Given the description of an element on the screen output the (x, y) to click on. 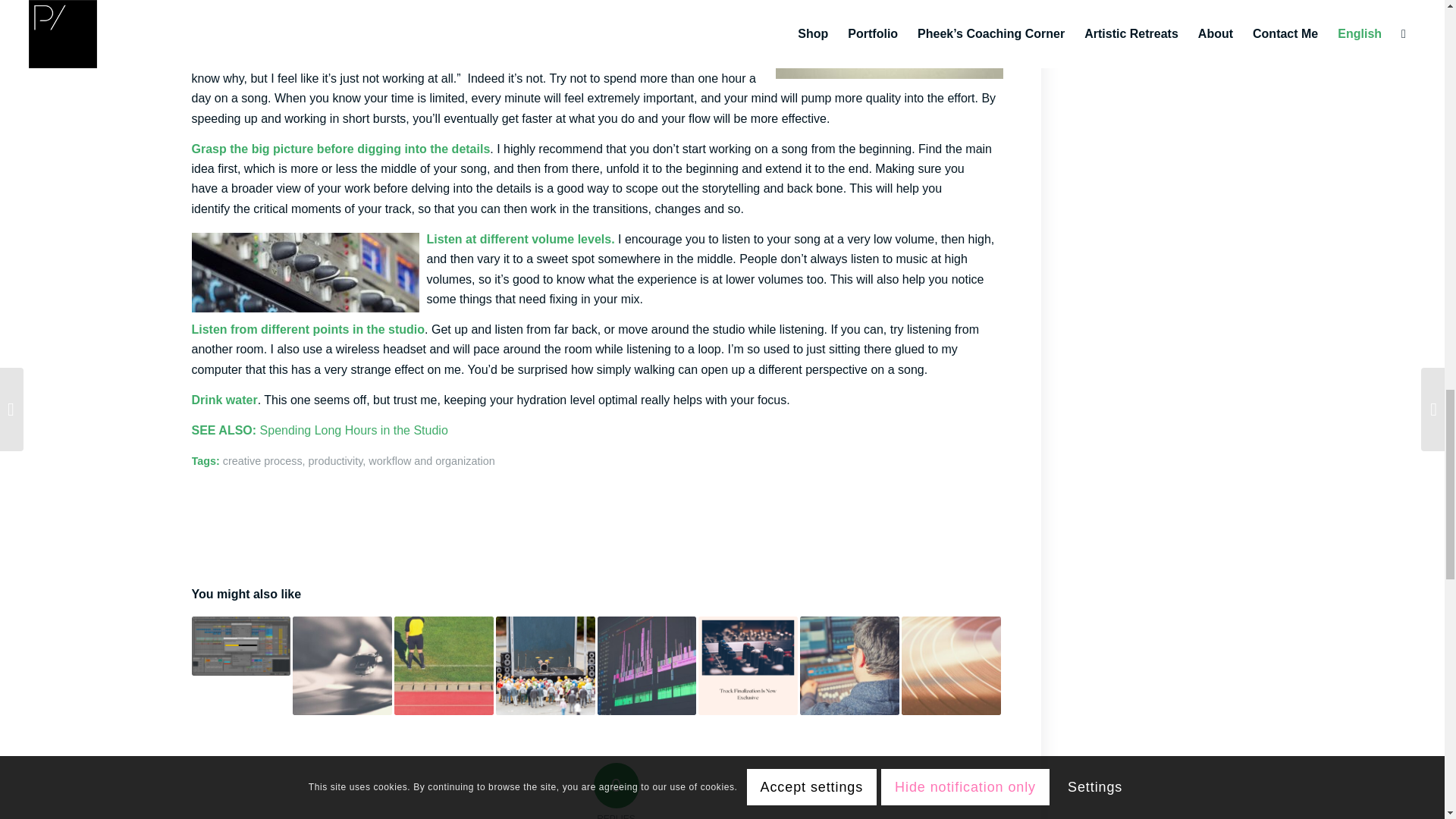
The Rule Of 10: Production in Rotation for Big Results (443, 665)
productivity (335, 460)
Spending Long Hours in the Studio (354, 430)
workflow and organization (431, 460)
Creating Timeless Music (341, 665)
creative process (262, 460)
Finishing Your Projects (239, 646)
Bouncing stems and mix (646, 665)
Miniature Songs Concept (545, 665)
